Given the description of an element on the screen output the (x, y) to click on. 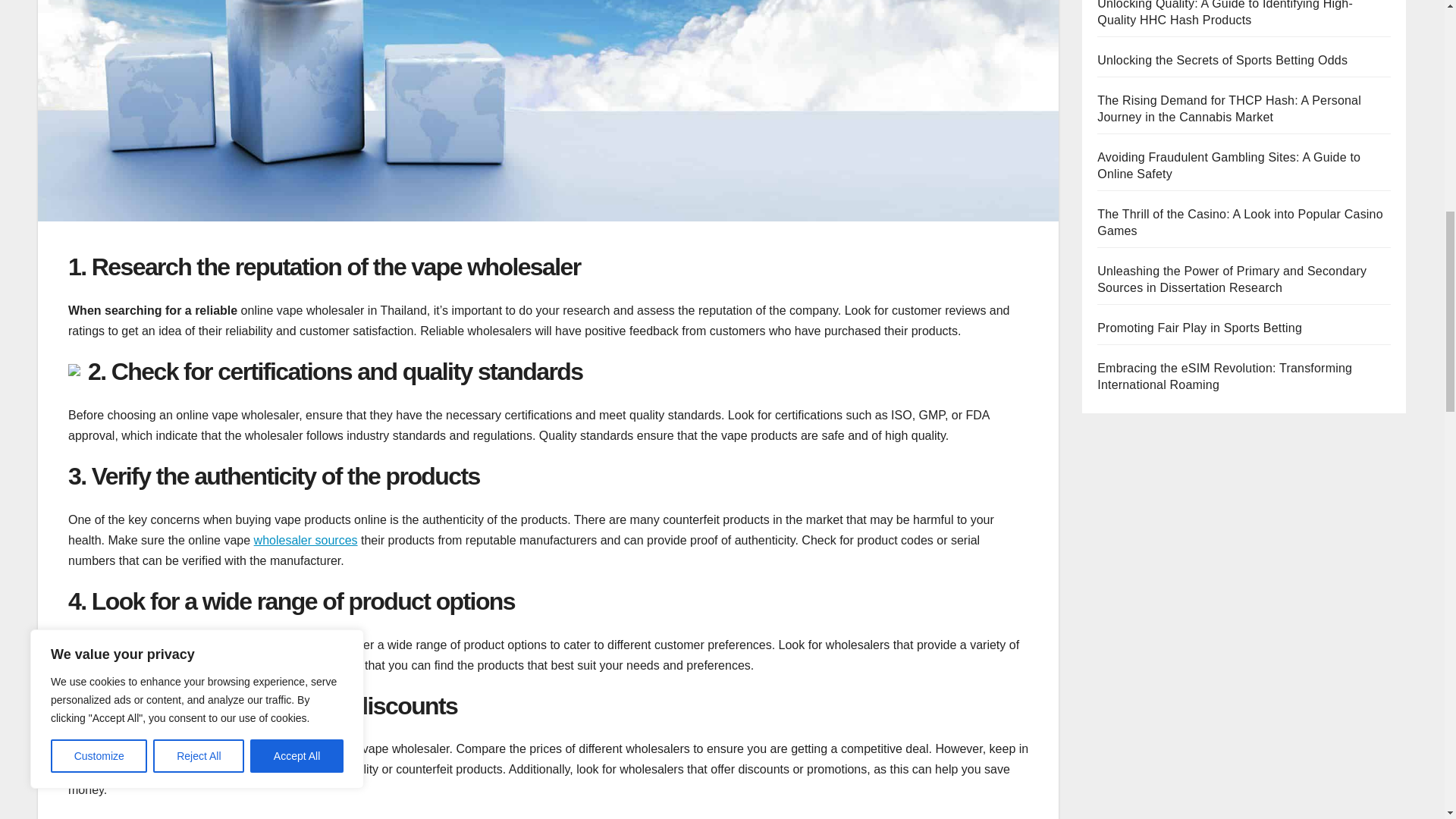
wholesaler sources (305, 540)
